Given the description of an element on the screen output the (x, y) to click on. 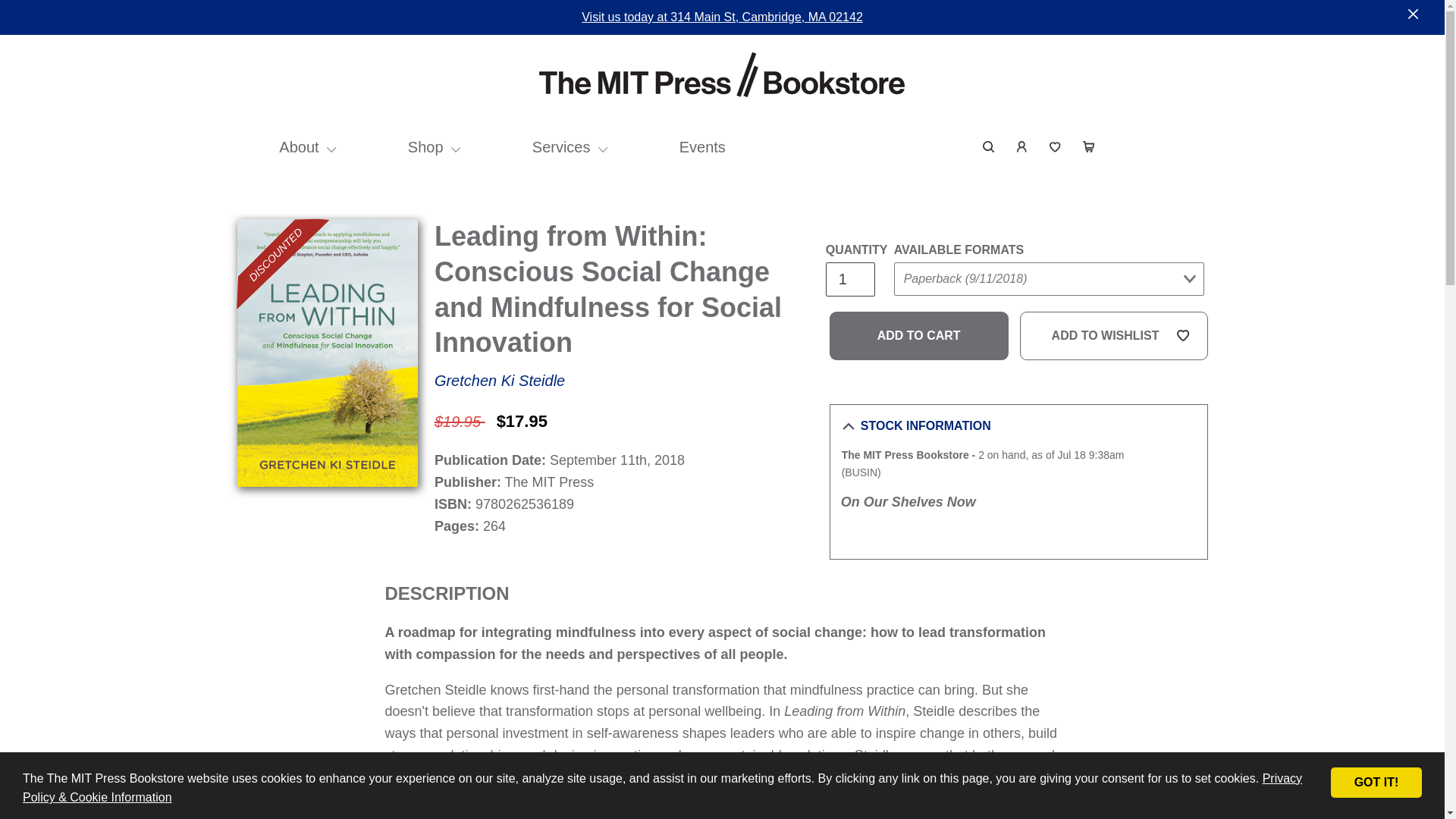
SEARCH (989, 146)
Log in (1022, 146)
1 (850, 279)
Submit (1169, 135)
Cart (1088, 146)
Visit us today at 314 Main St, Cambridge, MA 02142 (721, 16)
Events (702, 146)
Add to cart (919, 336)
Link to mit press bookstore events listing (702, 146)
Log in (1022, 146)
Add to cart (919, 336)
ADD TO WISHLIST (1114, 336)
Wishlists (1055, 146)
Submit (922, 308)
